Given the description of an element on the screen output the (x, y) to click on. 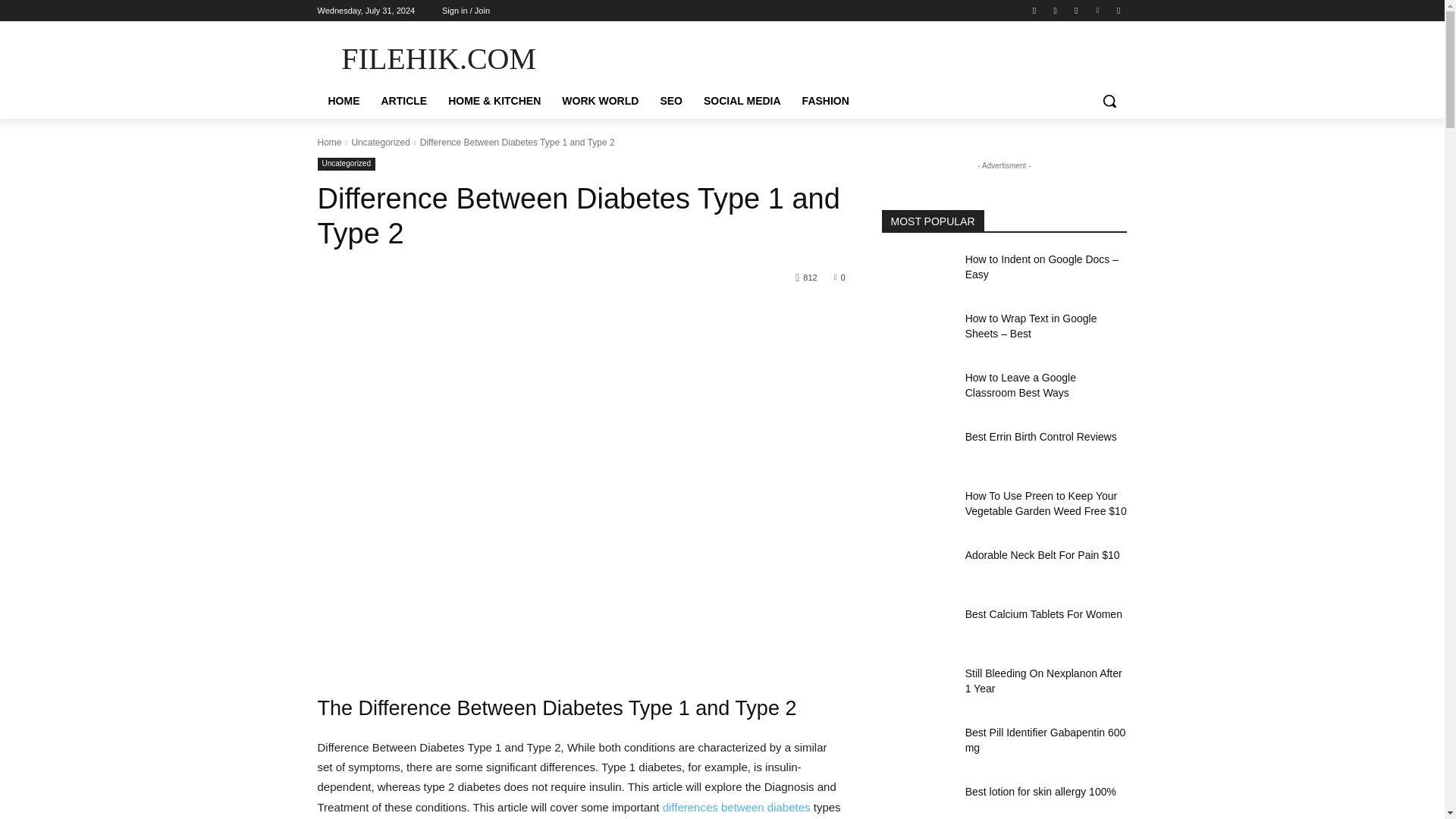
Facebook (1034, 9)
Youtube (1117, 9)
SOCIAL MEDIA (742, 100)
SEO (671, 100)
ARTICLE (403, 100)
View all posts in Uncategorized (379, 142)
Instagram (1055, 9)
Vimeo (1097, 9)
FILEHIK.COM (438, 59)
Twitter (1075, 9)
HOME (343, 100)
Home (328, 142)
FASHION (826, 100)
WORK WORLD (600, 100)
